Given the description of an element on the screen output the (x, y) to click on. 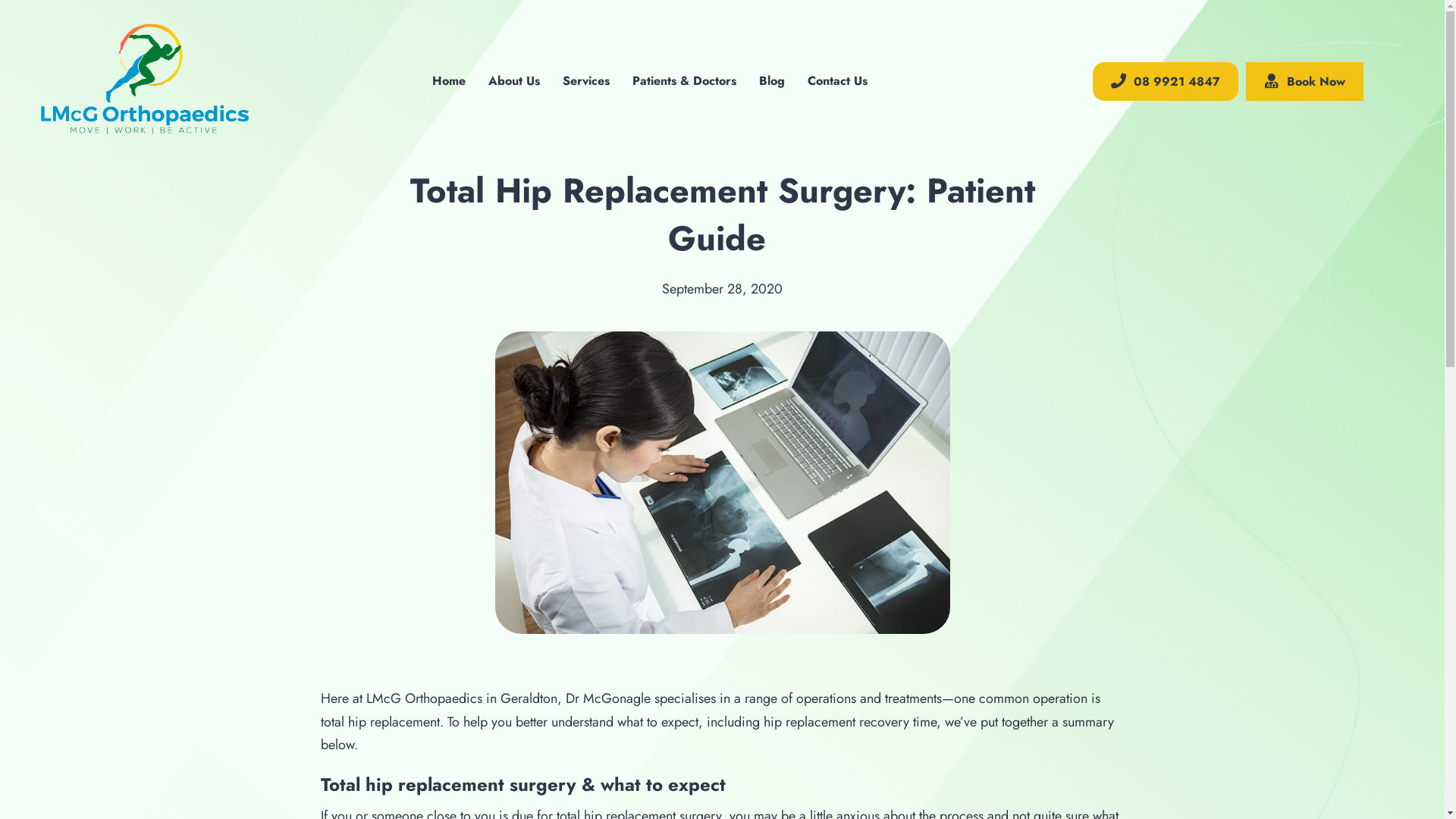
Book Now Element type: text (1304, 81)
08 9921 4847 Element type: text (1165, 81)
Home Element type: text (448, 80)
Blog Element type: text (771, 80)
Services Element type: text (586, 80)
About Us Element type: text (513, 80)
LMCG-logo-V2 Logo Motion Element type: hover (144, 81)
shutterstock_110052932 Element type: hover (721, 482)
Contact Us Element type: text (837, 80)
Patients & Doctors Element type: text (683, 80)
